Given the description of an element on the screen output the (x, y) to click on. 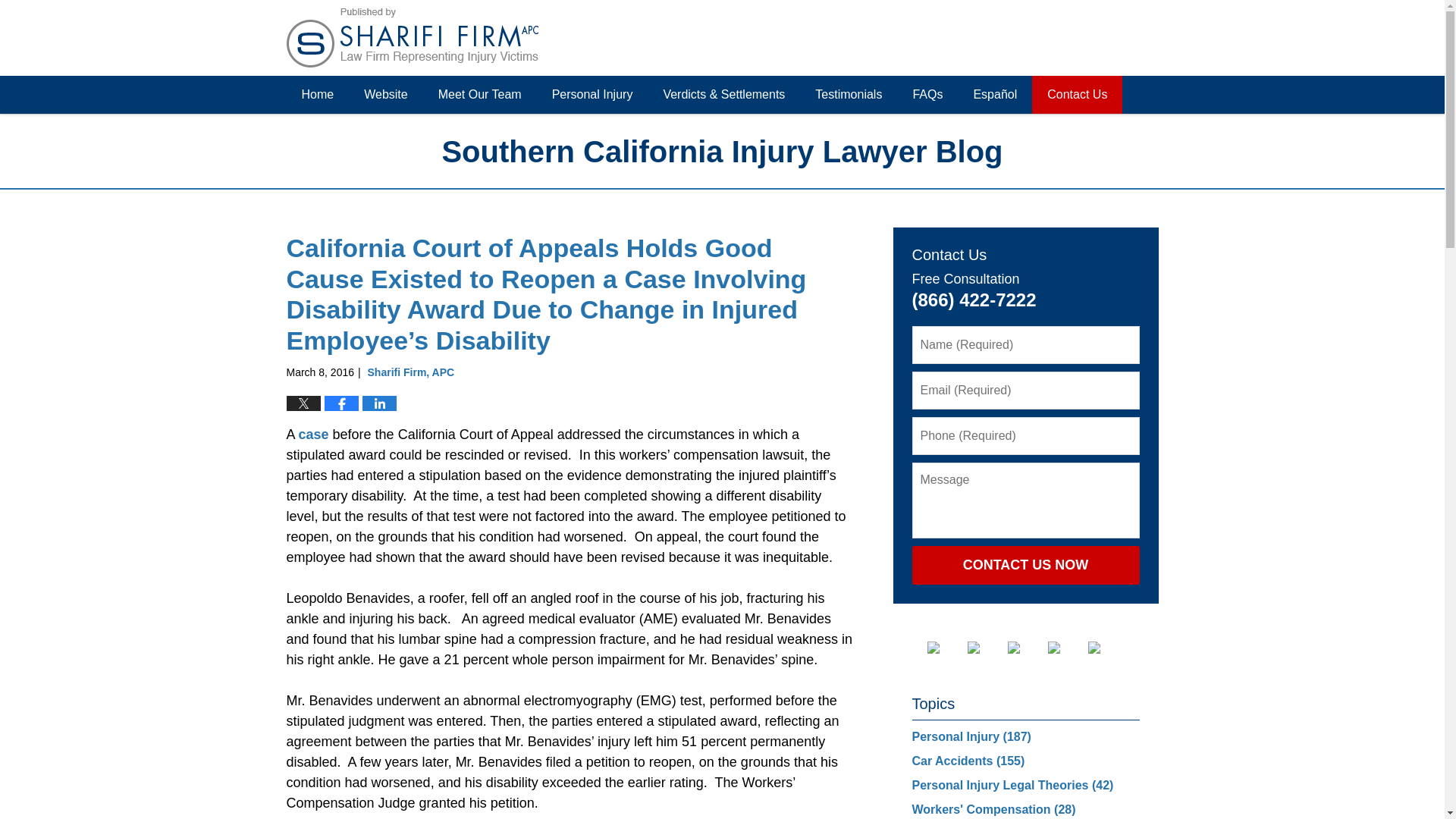
Testimonials (847, 94)
case (313, 434)
Justia (1066, 647)
Sharifi Firm, APC (411, 372)
Website (386, 94)
Personal Injury (592, 94)
Please enter a valid phone number. (1024, 435)
Meet Our Team (480, 94)
Contact Us (1077, 94)
Facebook (944, 647)
CONTACT US NOW (1024, 565)
Twitter (986, 647)
FAQs (927, 94)
Feed (1105, 647)
Southern California Injury Lawyer Blog (412, 37)
